Given the description of an element on the screen output the (x, y) to click on. 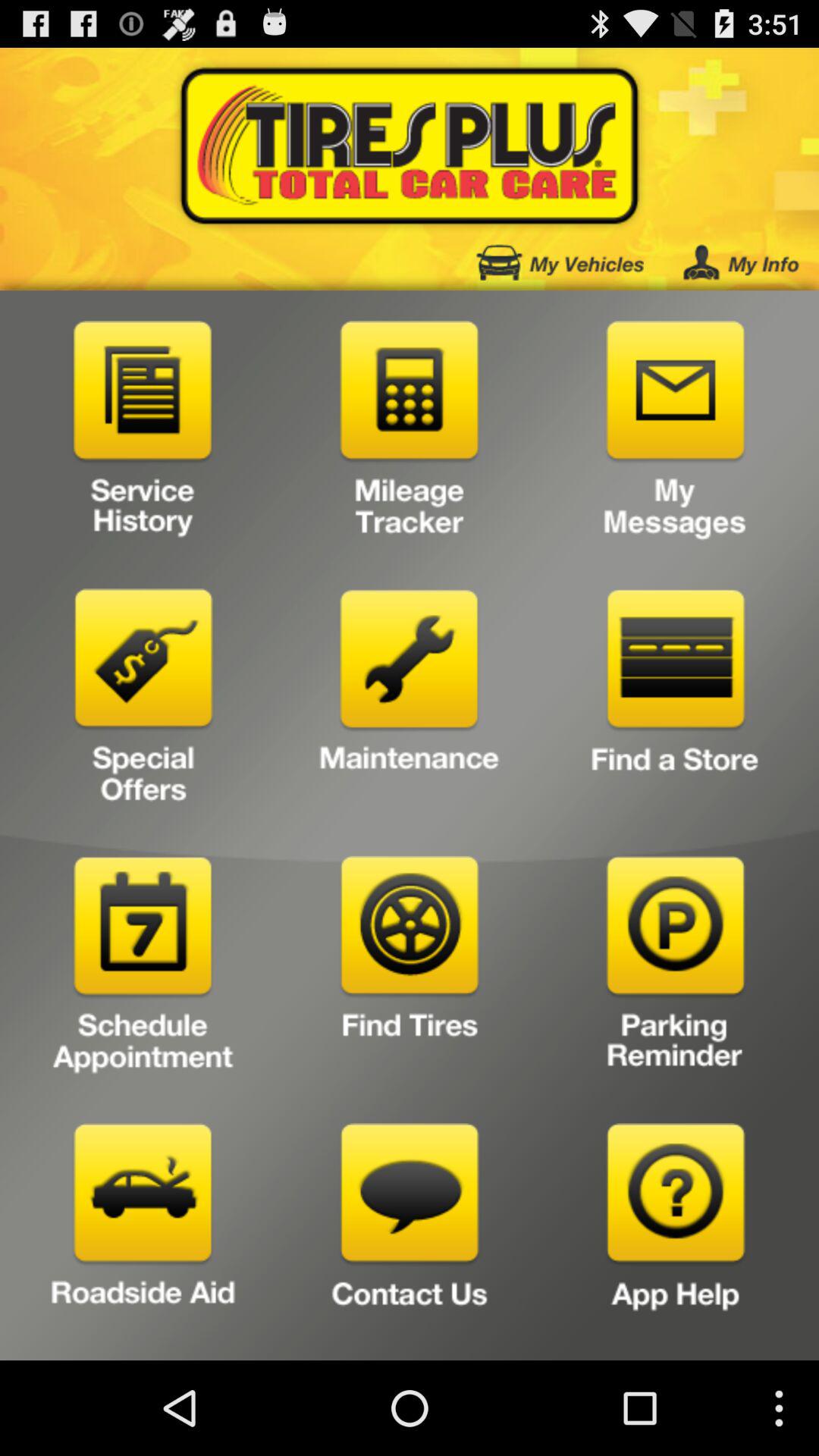
reminder for the parking (675, 968)
